Given the description of an element on the screen output the (x, y) to click on. 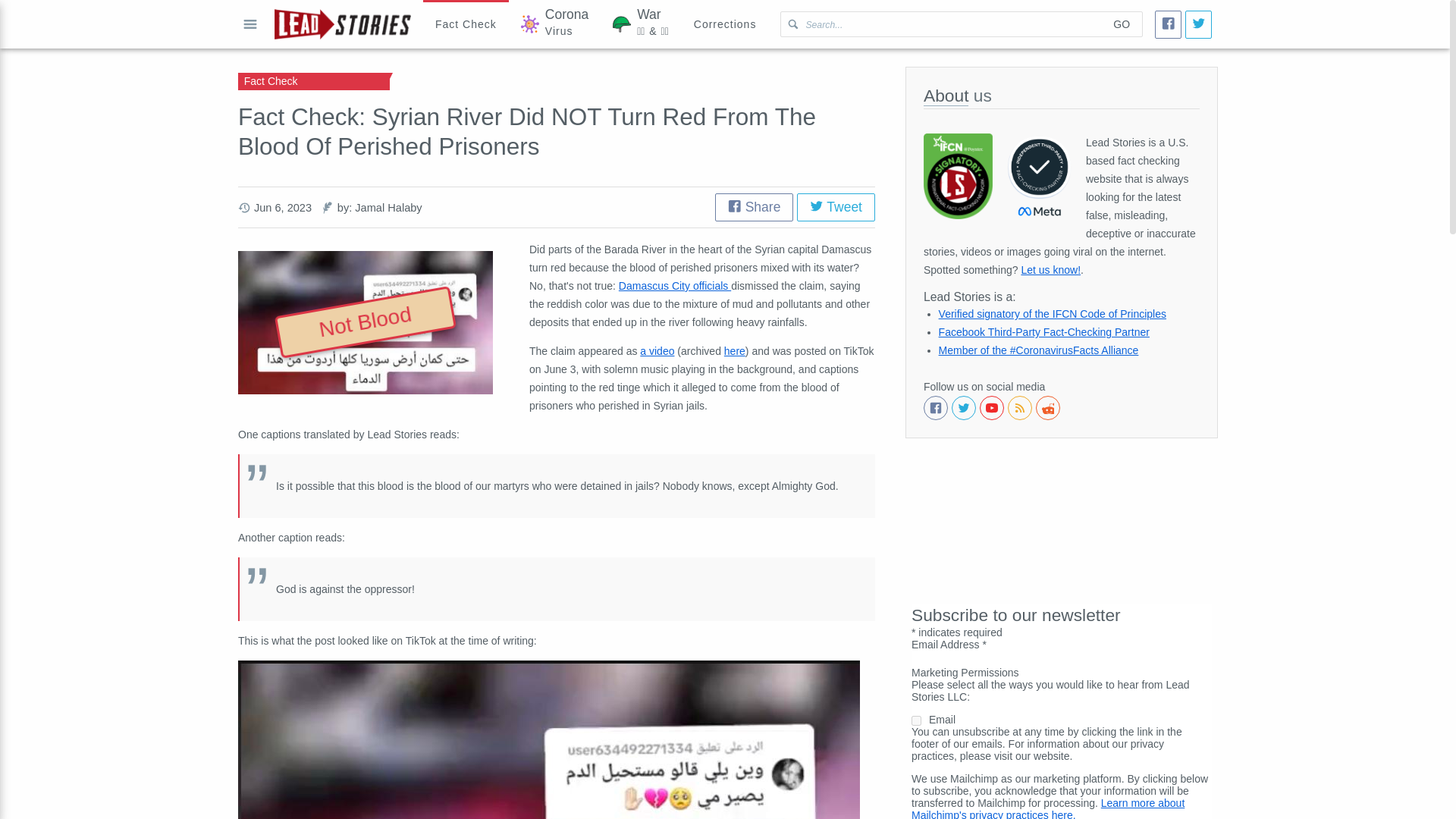
here (553, 24)
Y (734, 350)
OPEN FULL MENU (916, 720)
a video (250, 24)
Tweet (657, 350)
Corrections (835, 207)
Facebook Third-Party Fact-Checking Partner (724, 24)
Share (1044, 331)
Damascus City officials (753, 207)
Let us know! (674, 285)
GO (1050, 269)
Fact Check (1120, 24)
Learn more about Mailchimp's privacy practices here. (465, 24)
Verified signatory of the IFCN Code of Principles (1048, 807)
